Given the description of an element on the screen output the (x, y) to click on. 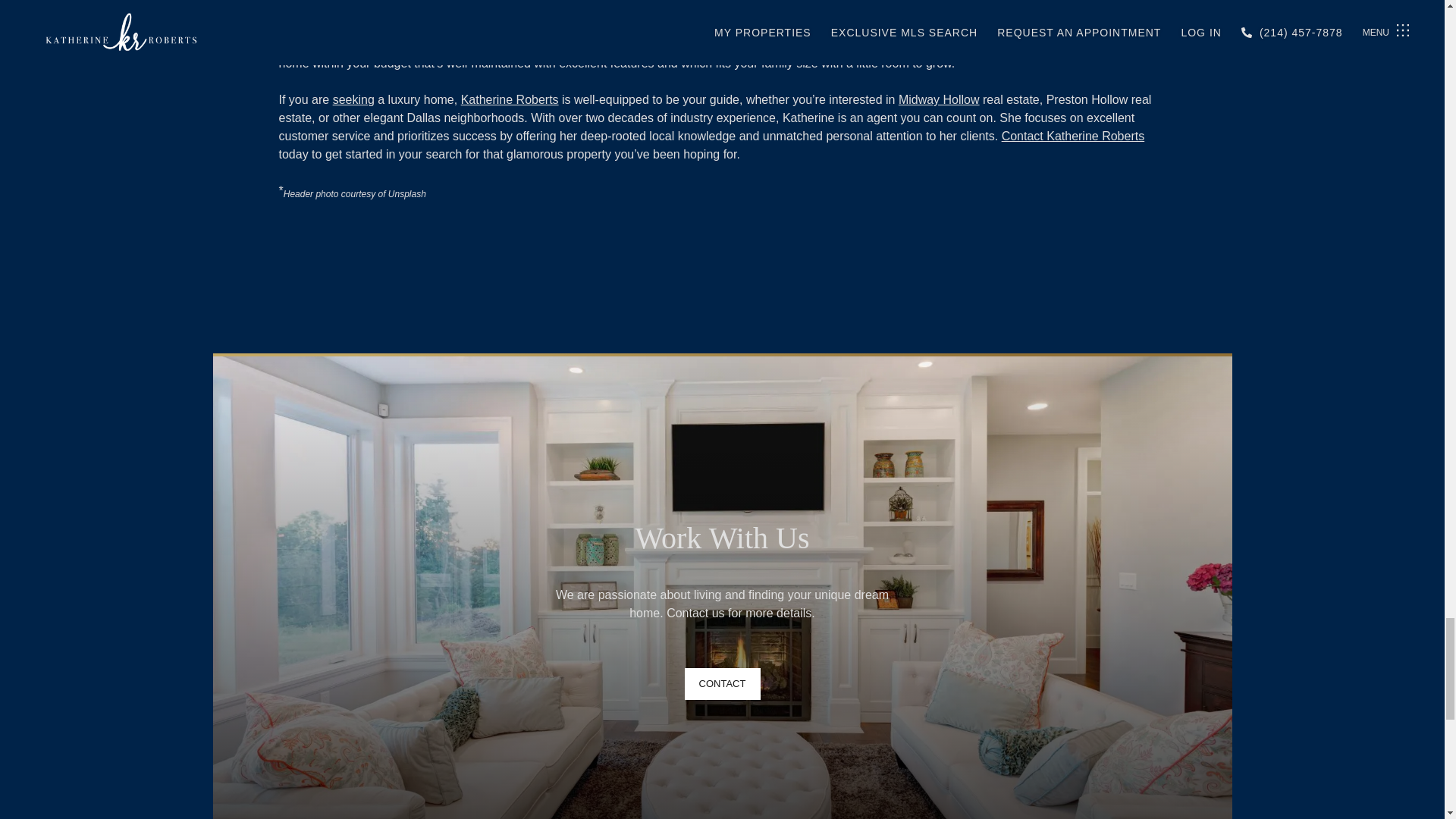
CONTACT (722, 684)
Katherine Roberts (510, 99)
Contact Katherine Roberts (1072, 135)
seeking (353, 99)
Midway Hollow (938, 99)
